Given the description of an element on the screen output the (x, y) to click on. 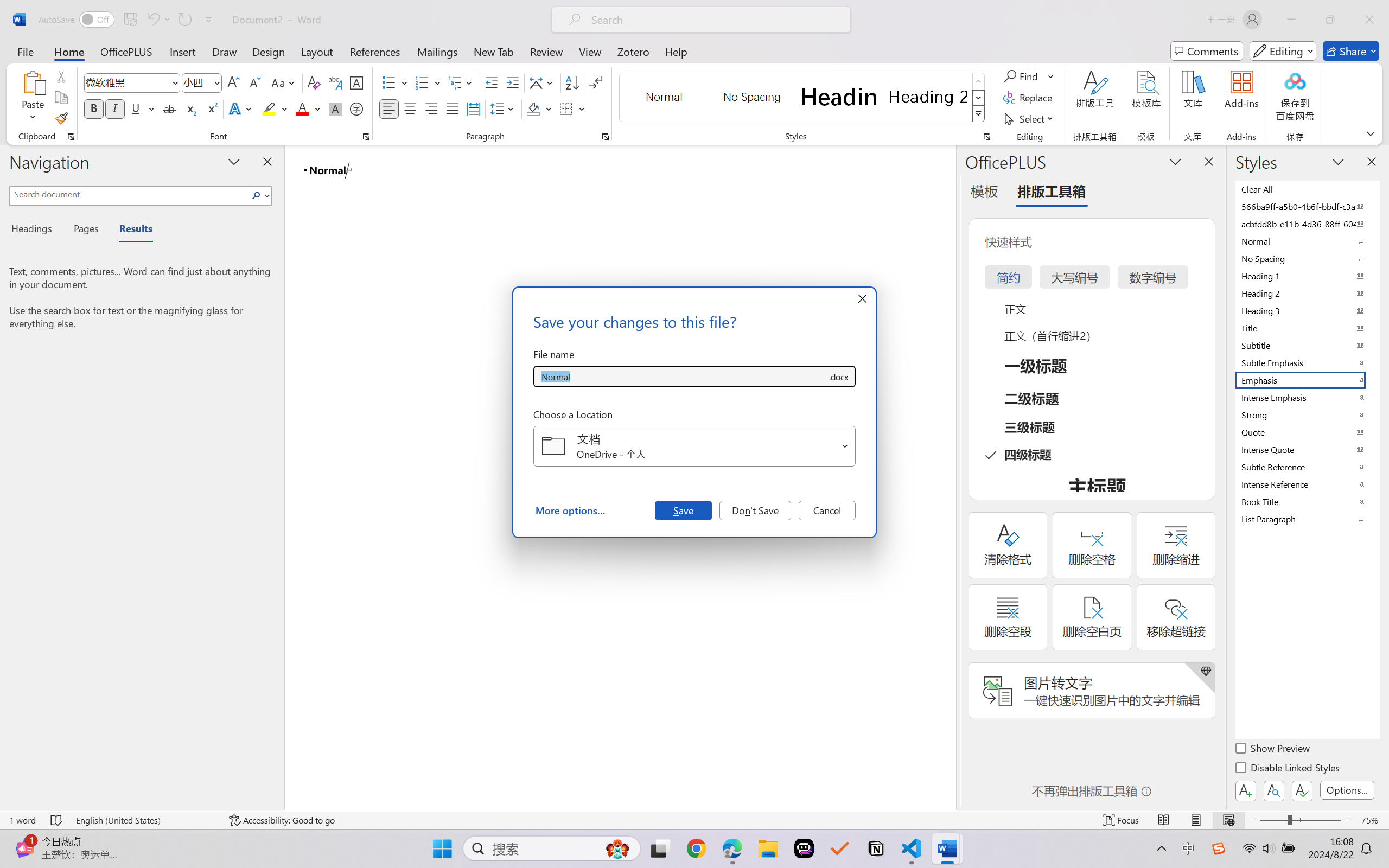
Replace... (1029, 97)
Class: NetUIScrollBar (948, 477)
Enclose Characters... (356, 108)
Review (546, 51)
Office Clipboard... (70, 136)
Borders (566, 108)
Zotero (632, 51)
Disable Linked Styles (1287, 769)
Subscript (190, 108)
Bullets (388, 82)
